Given the description of an element on the screen output the (x, y) to click on. 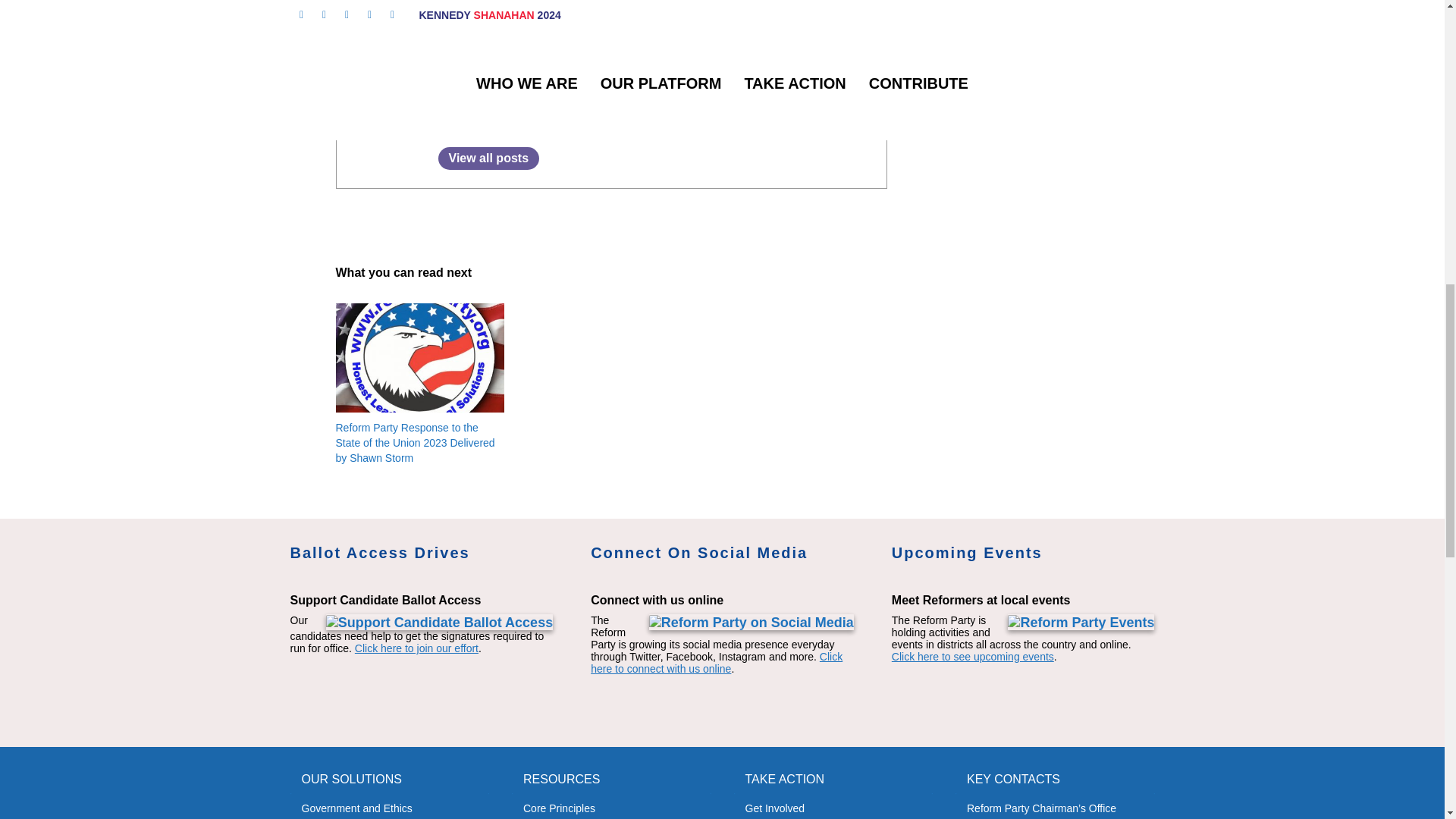
Click here to see upcoming events (972, 656)
View all posts (489, 158)
View all posts (489, 158)
MHackmer (475, 125)
MHackmer (475, 125)
Government and Ethics (389, 806)
reformpartynewlogo-2 (418, 357)
Click here to join our effort (417, 648)
Click here to connect with us online (717, 662)
